Given the description of an element on the screen output the (x, y) to click on. 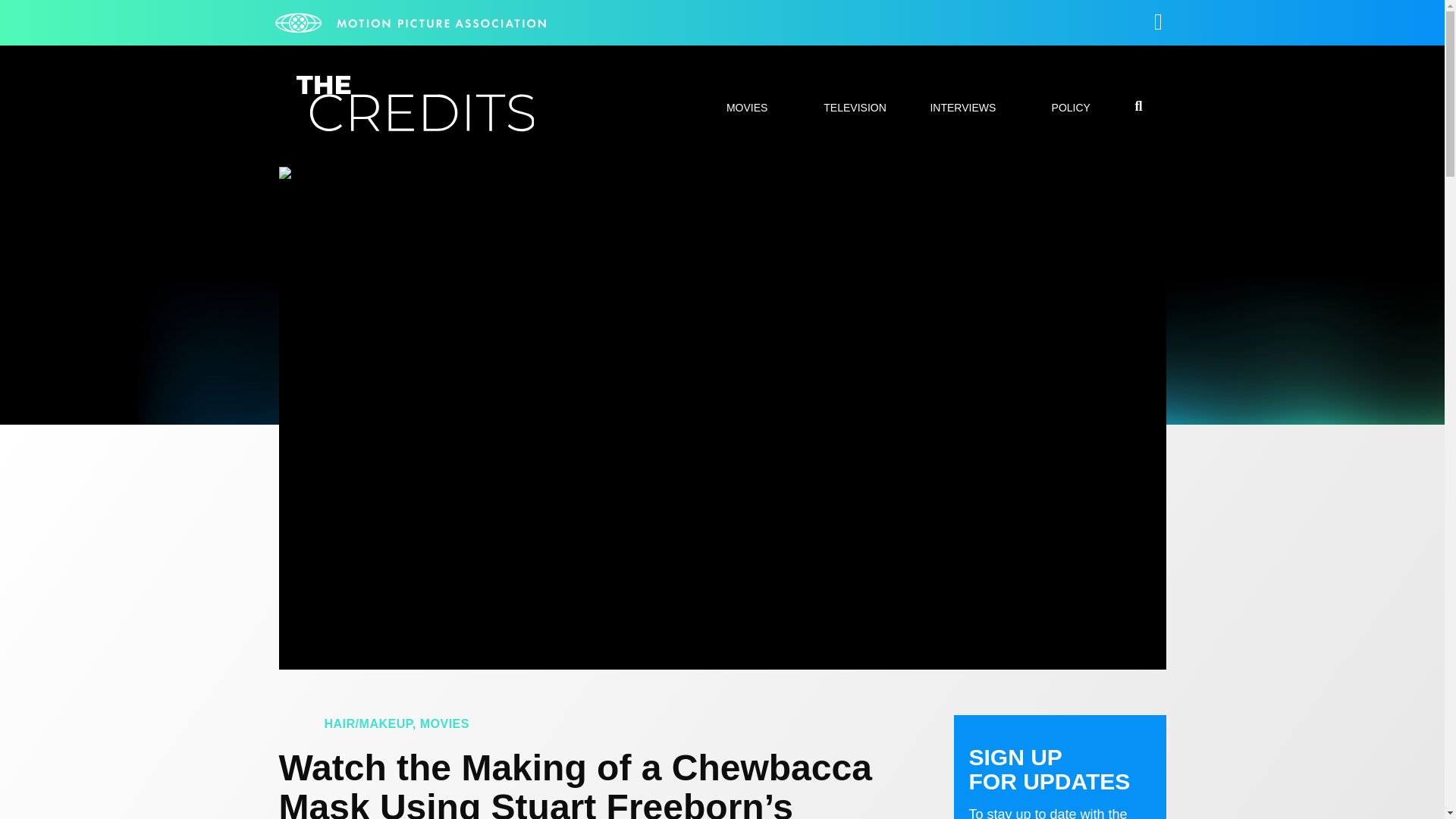
Search (1077, 408)
